Given the description of an element on the screen output the (x, y) to click on. 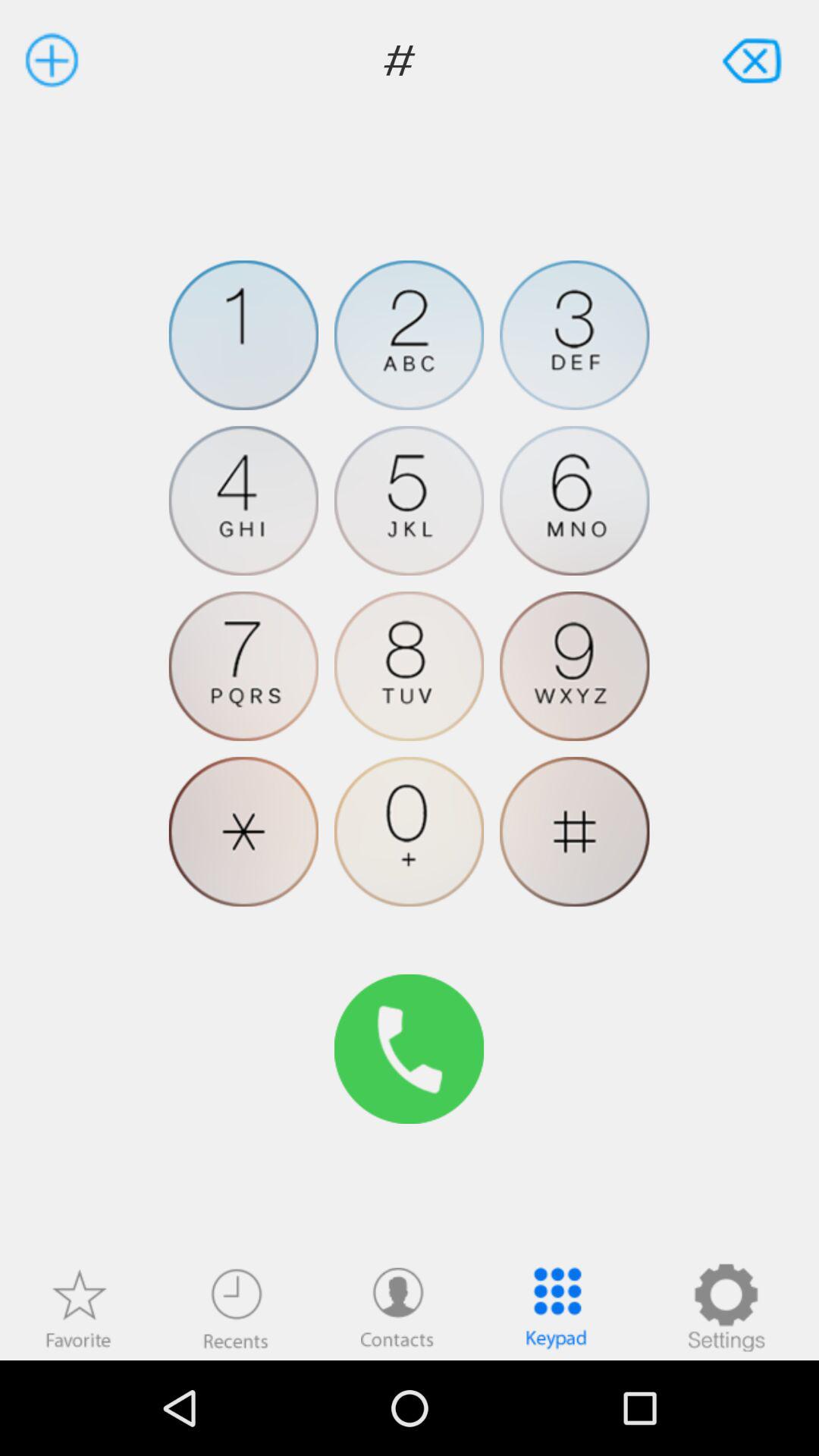
settings option (725, 1307)
